Given the description of an element on the screen output the (x, y) to click on. 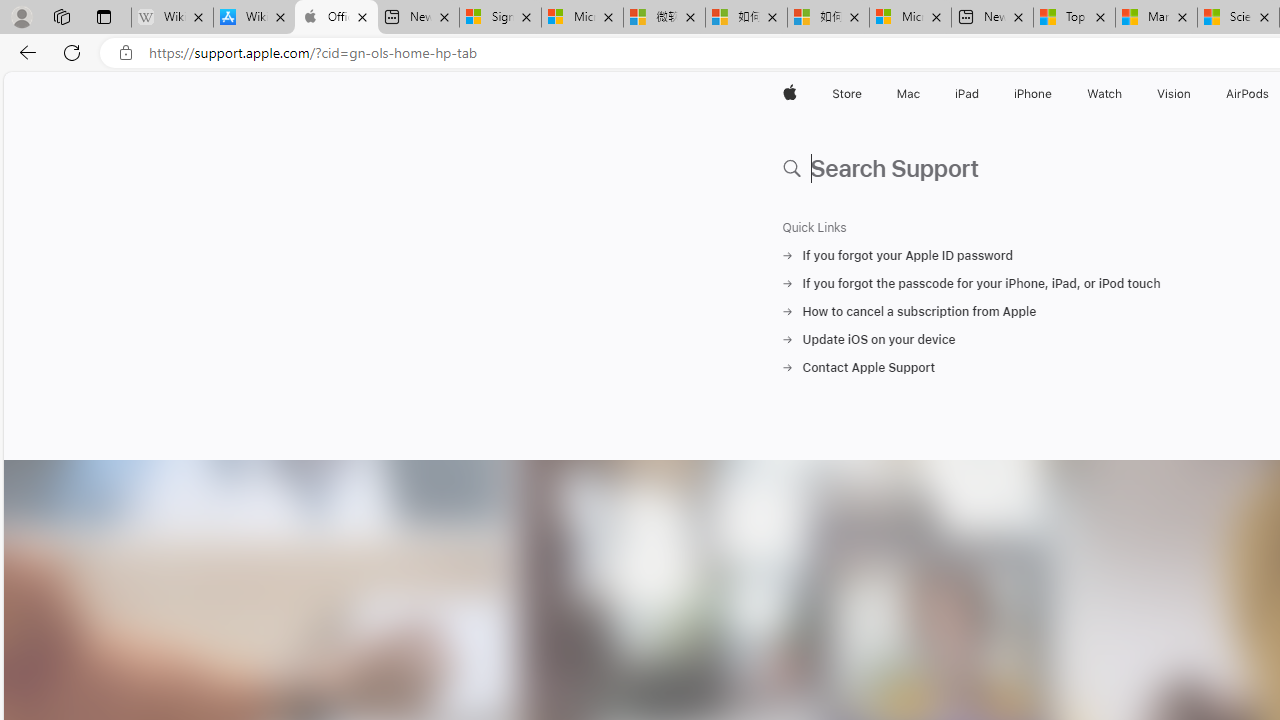
Vision menu (1195, 93)
Mac menu (922, 93)
iPhone menu (1055, 93)
Mac (908, 93)
Marine life - MSN (1156, 17)
iPad (965, 93)
Watch menu (1125, 93)
